Given the description of an element on the screen output the (x, y) to click on. 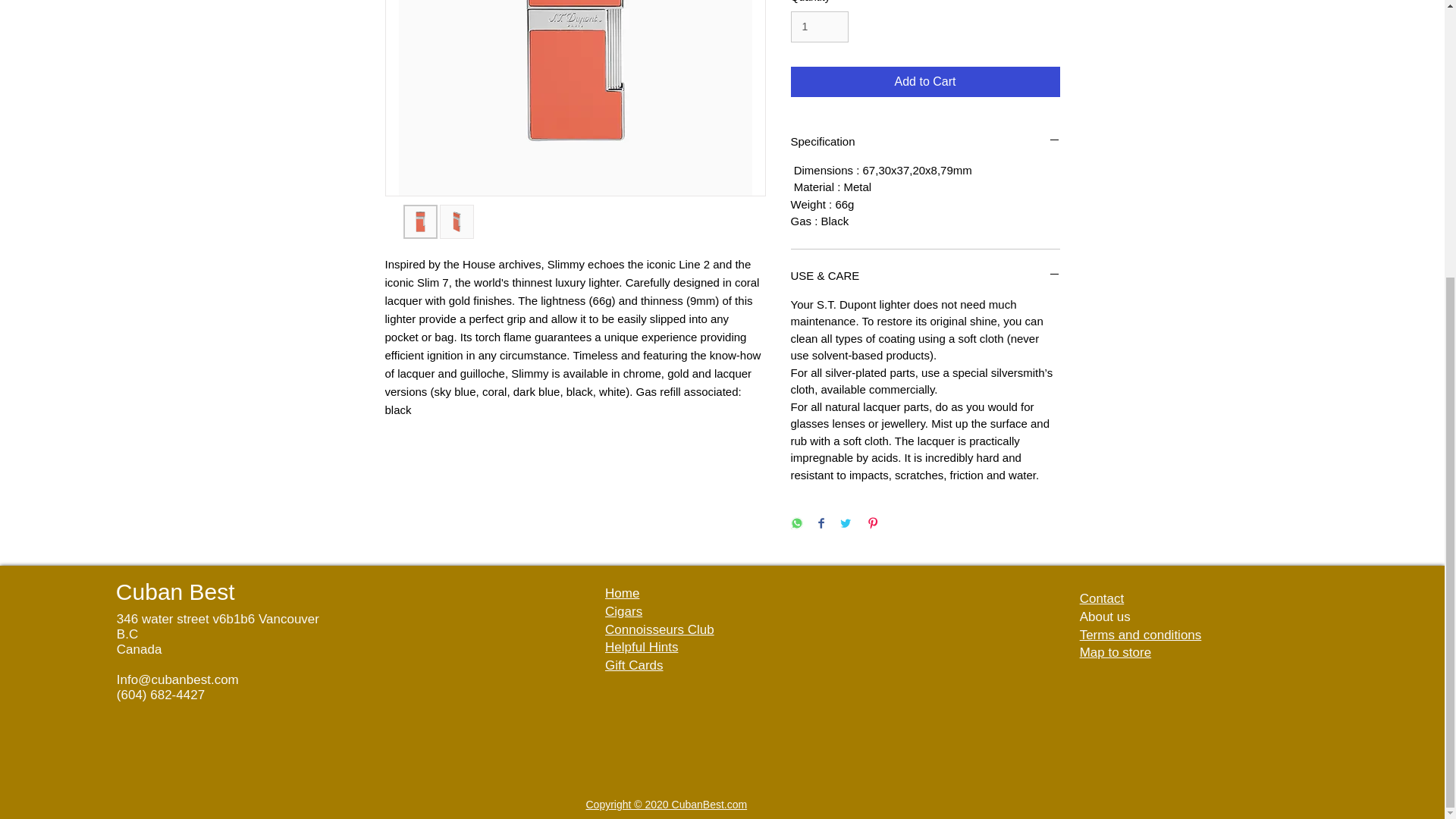
Contact (1102, 598)
Map to store (1115, 652)
Terms and conditions (1141, 635)
Helpful Hints (641, 646)
Gift Cards (634, 665)
Cigars (623, 611)
Home (622, 593)
Specification (924, 141)
Connoisseurs Club (659, 629)
Add to Cart (924, 81)
